Given the description of an element on the screen output the (x, y) to click on. 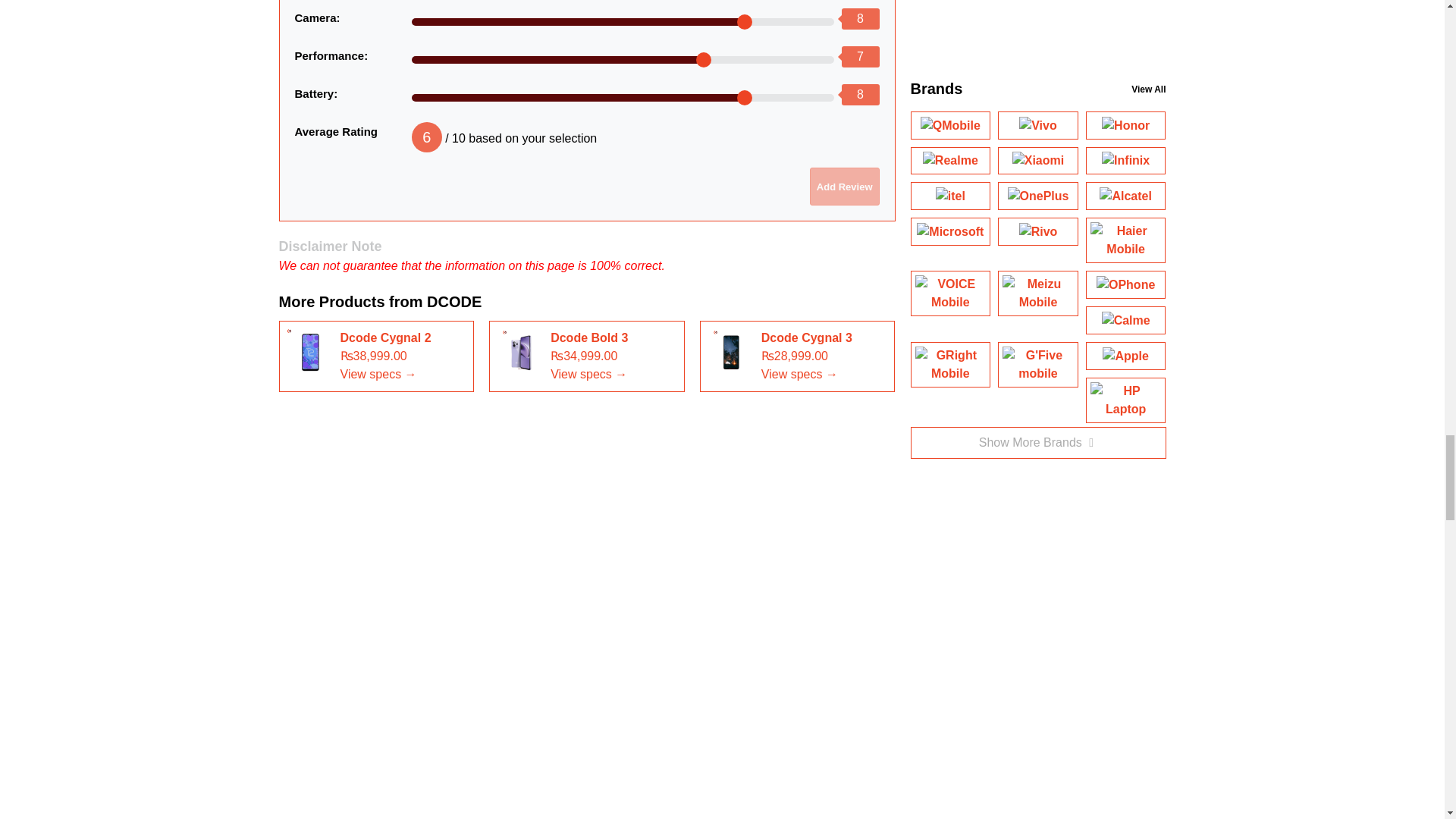
8 (623, 21)
8 (623, 97)
Add Review (844, 186)
7 (623, 59)
